Given the description of an element on the screen output the (x, y) to click on. 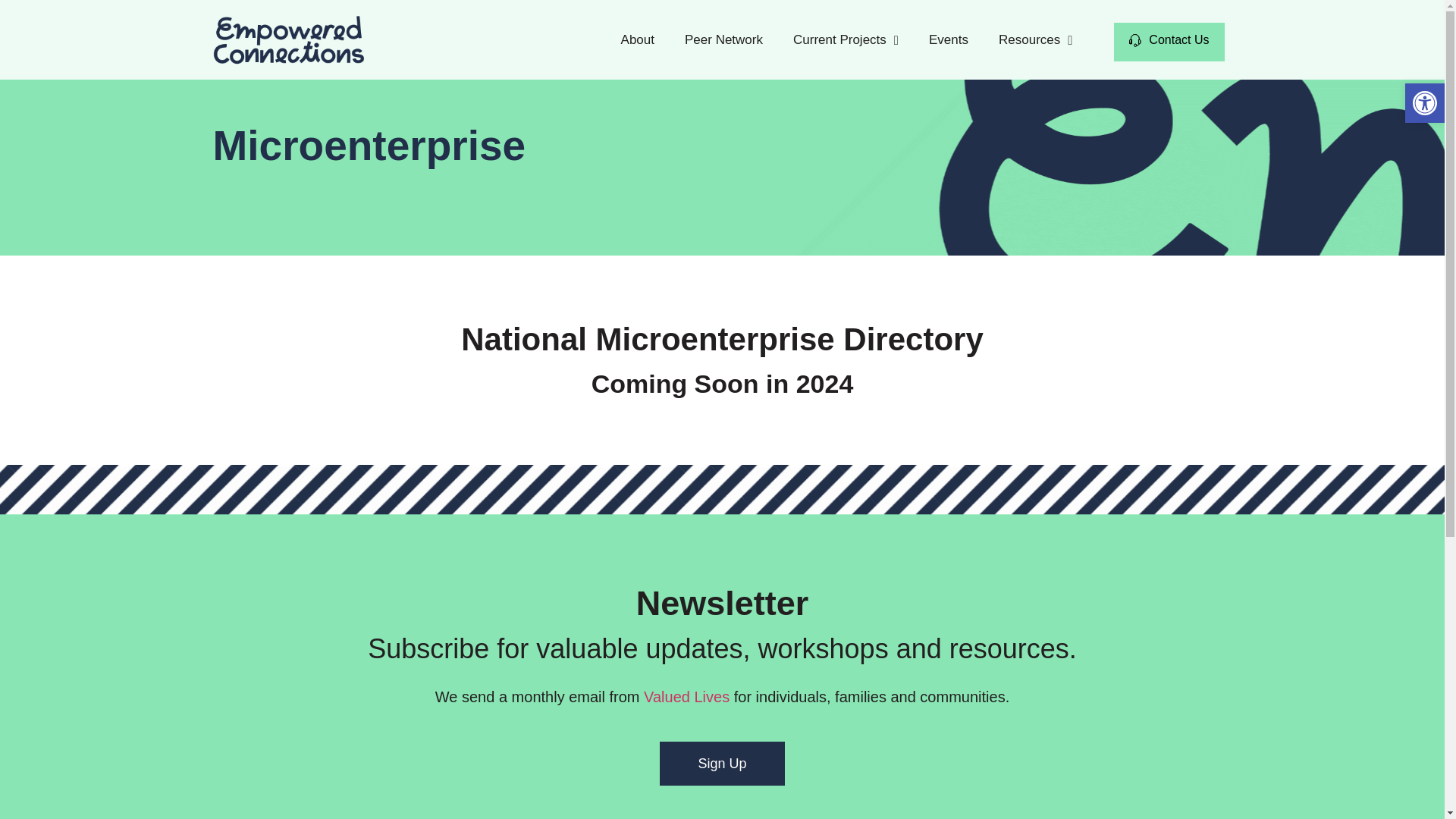
Accessibility Tools (1424, 102)
Resources (1035, 39)
Events (949, 39)
About (637, 39)
Peer Network (723, 39)
Current Projects (845, 39)
